Given the description of an element on the screen output the (x, y) to click on. 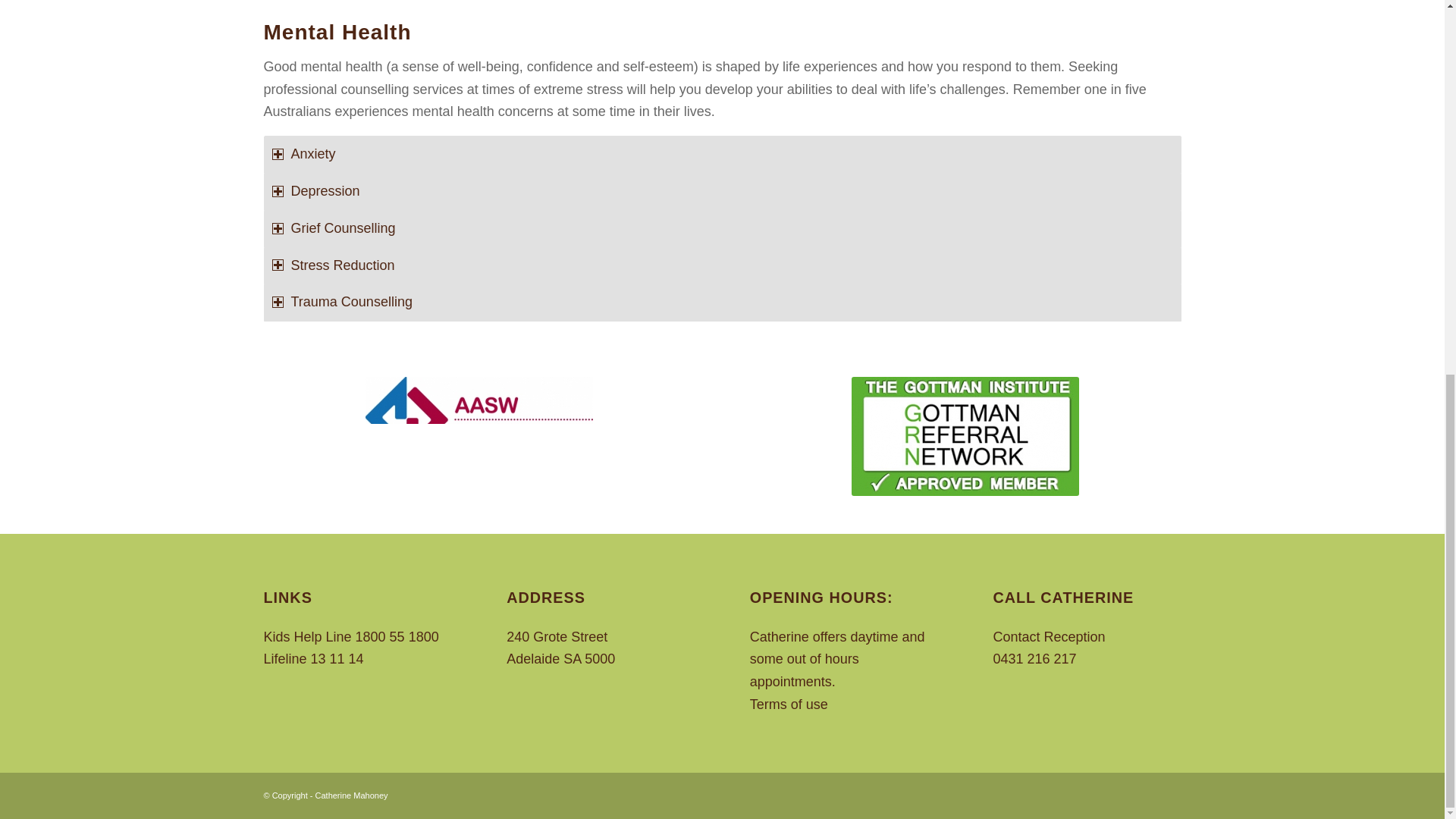
Kids Help Line 1800 55 1800 (351, 636)
Australian Association of Social Workers (478, 418)
Gottman referral network logo (964, 436)
Lifeline 13 11 14 (313, 658)
Terms of use (788, 703)
